Given the description of an element on the screen output the (x, y) to click on. 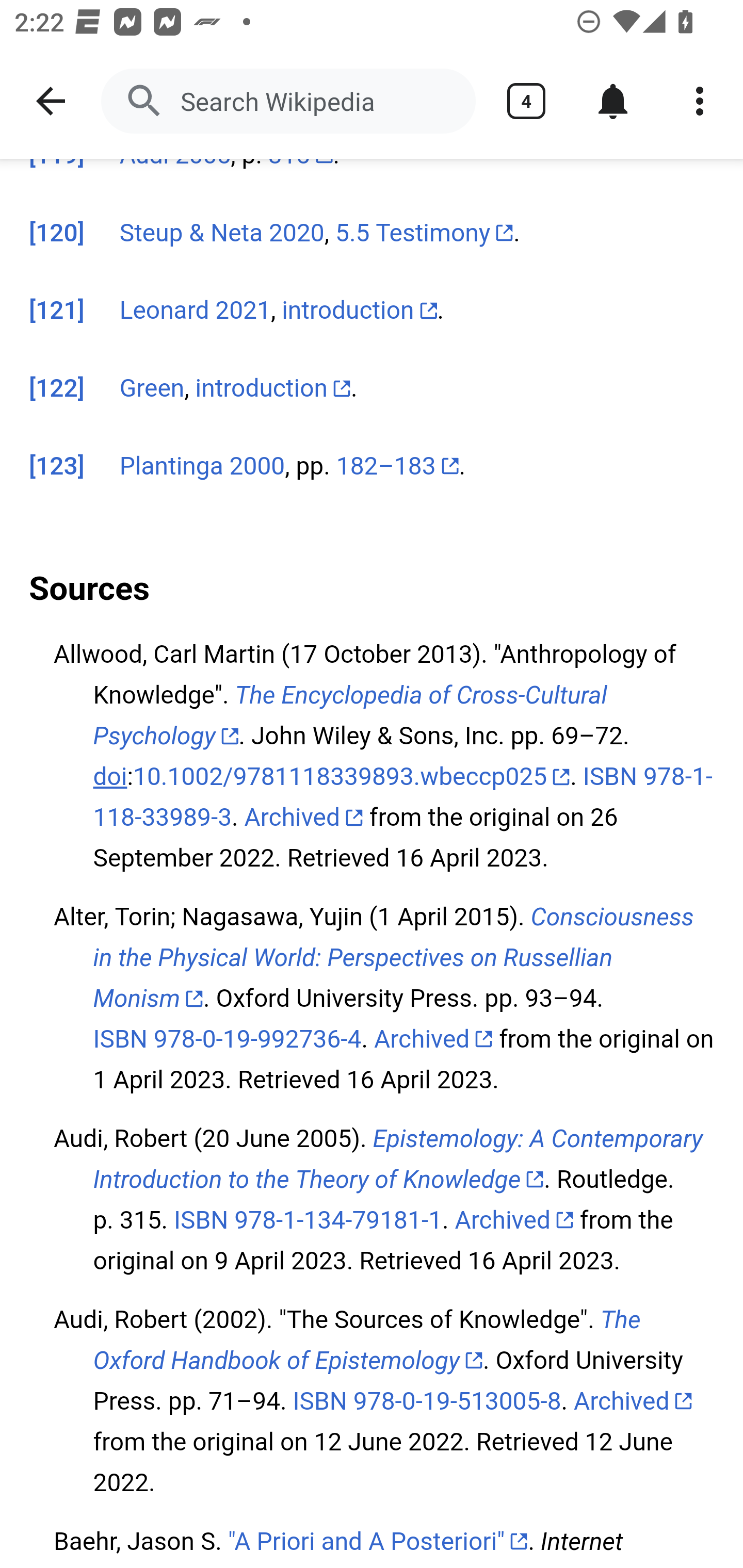
Show tabs 4 (525, 100)
Notifications (612, 100)
Navigate up (50, 101)
More options (699, 101)
Search Wikipedia (288, 100)
[120] (56, 233)
Steup & Neta 2020 Steup  &  Neta 2020 (221, 233)
5.5 Testimony (423, 233)
[121] (56, 312)
Leonard 2021 (194, 312)
introduction (359, 312)
[122] (56, 389)
Green (151, 389)
introduction (273, 389)
[123] (56, 467)
Plantinga 2000 (201, 467)
182–183 (397, 467)
The Encyclopedia of Cross-Cultural Psychology (350, 716)
978-1-118-33989-3 (402, 798)
ISBN (119, 1040)
978-0-19-992736-4 (256, 1040)
Archived (433, 1040)
ISBN (200, 1220)
978-1-134-79181-1 (338, 1220)
Archived (513, 1220)
The Oxford Handbook of Epistemology (366, 1340)
ISBN (320, 1402)
978-0-19-513005-8 (456, 1402)
Archived (632, 1402)
"A Priori and A Posteriori" (378, 1542)
